Given the description of an element on the screen output the (x, y) to click on. 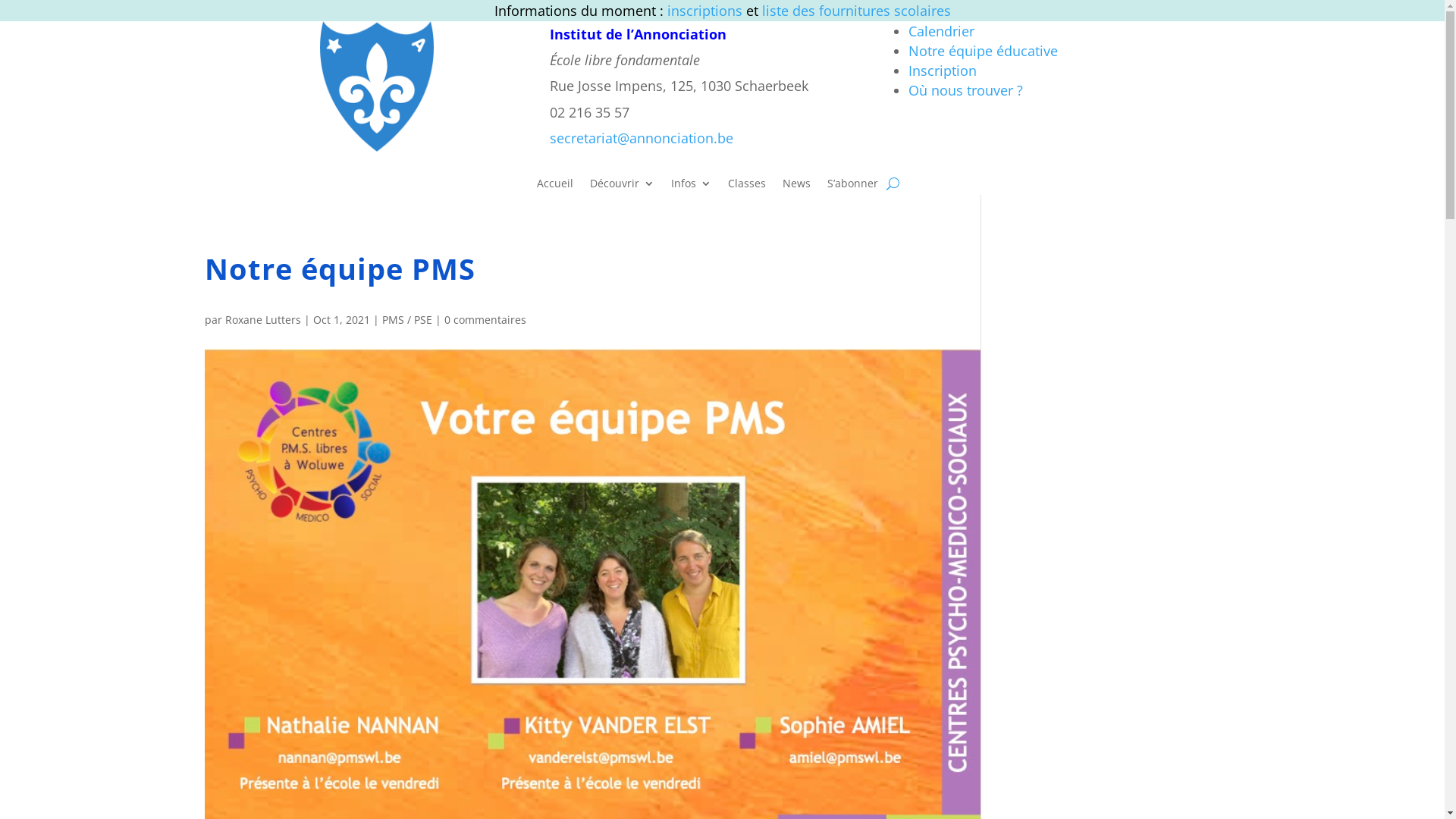
News Element type: text (796, 186)
Roxane Lutters Element type: text (262, 319)
nouveau logo Element type: hover (376, 86)
0 commentaires Element type: text (485, 319)
Infos Element type: text (691, 186)
Inscription Element type: text (942, 70)
secretariat@annonciation.be Element type: text (641, 137)
Accueil Element type: text (554, 186)
inscriptions Element type: text (706, 10)
Classes Element type: text (746, 186)
Calendrier Element type: text (941, 30)
liste des fournitures scolaires Element type: text (855, 10)
PMS / PSE Element type: text (407, 319)
